Given the description of an element on the screen output the (x, y) to click on. 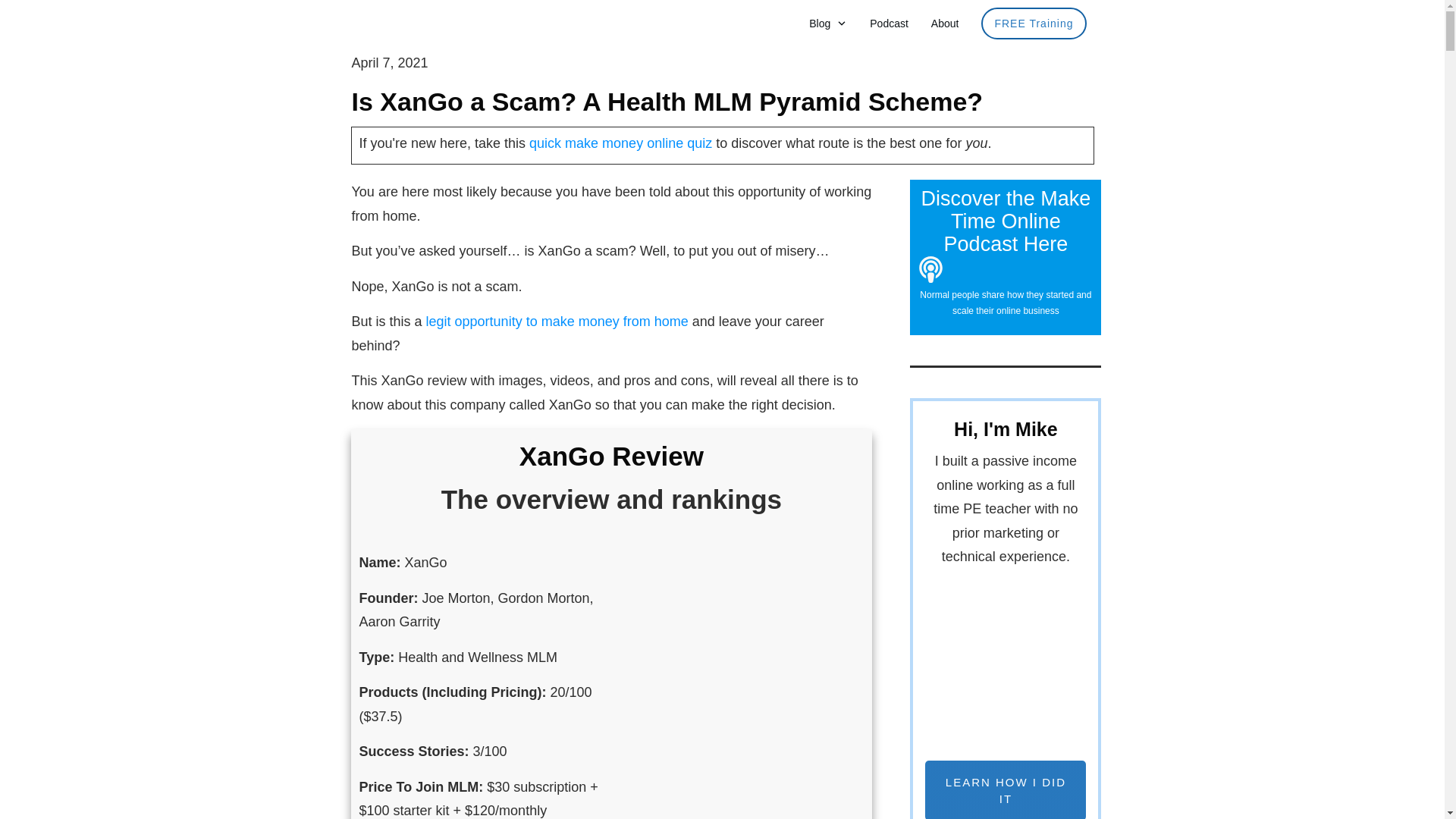
Blog (828, 23)
Podcast (888, 23)
FREE Training (1033, 23)
legit opportunity to make money from home (557, 321)
About (945, 23)
quick make money online quiz (620, 142)
